Given the description of an element on the screen output the (x, y) to click on. 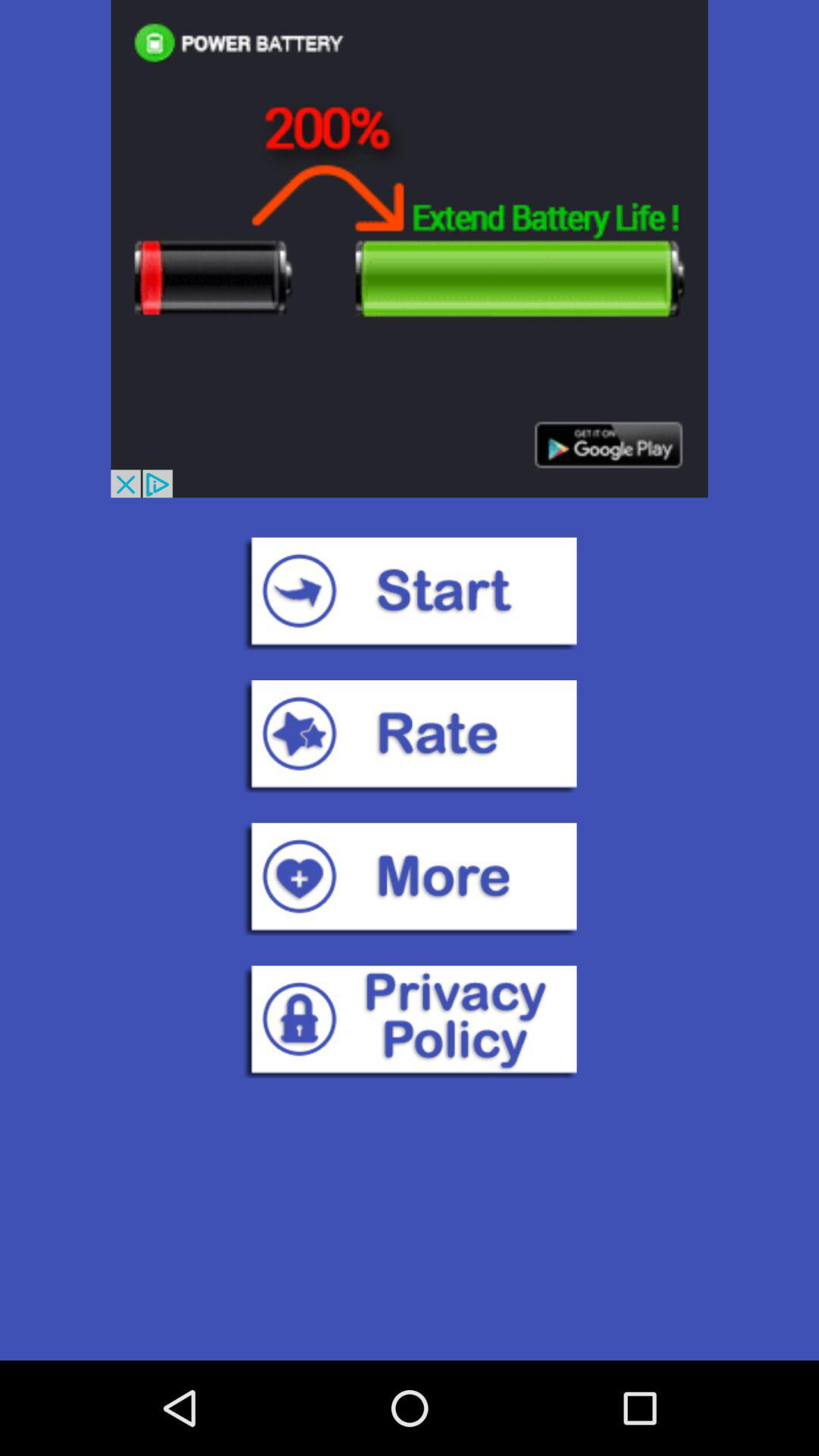
more (409, 878)
